Given the description of an element on the screen output the (x, y) to click on. 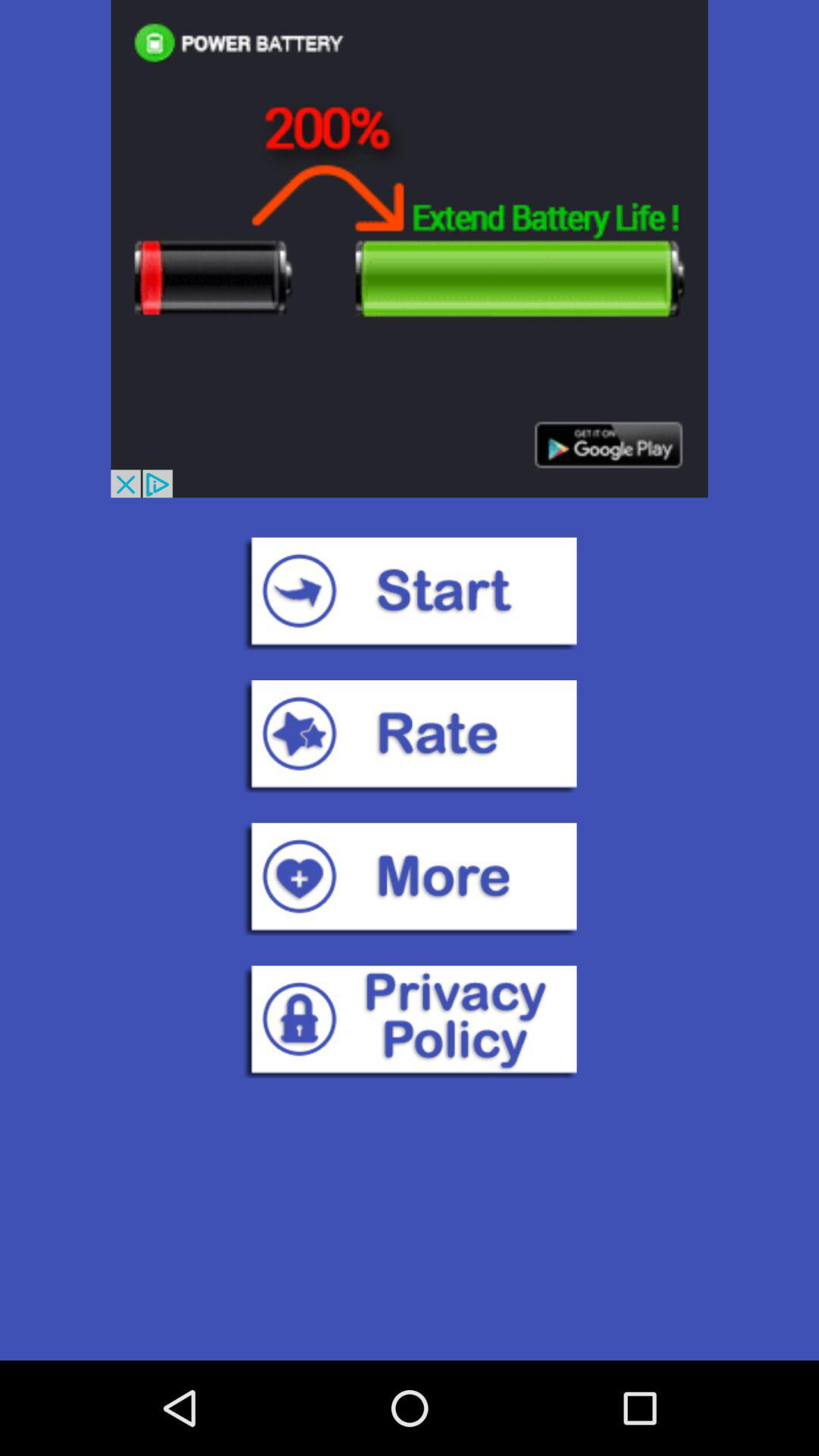
more (409, 878)
